Given the description of an element on the screen output the (x, y) to click on. 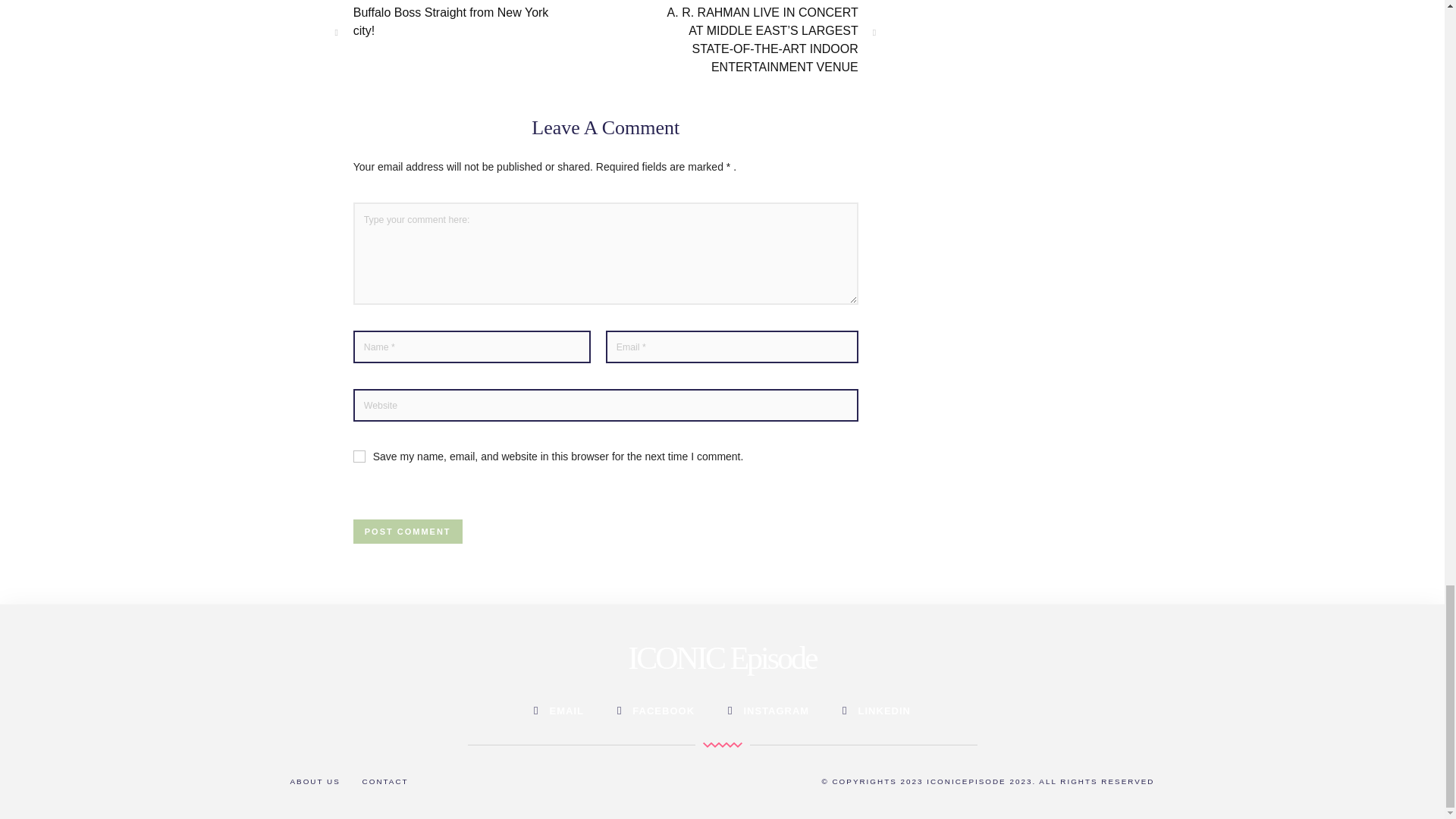
Post Comment (408, 531)
yes (359, 456)
Post Comment (408, 531)
